Given the description of an element on the screen output the (x, y) to click on. 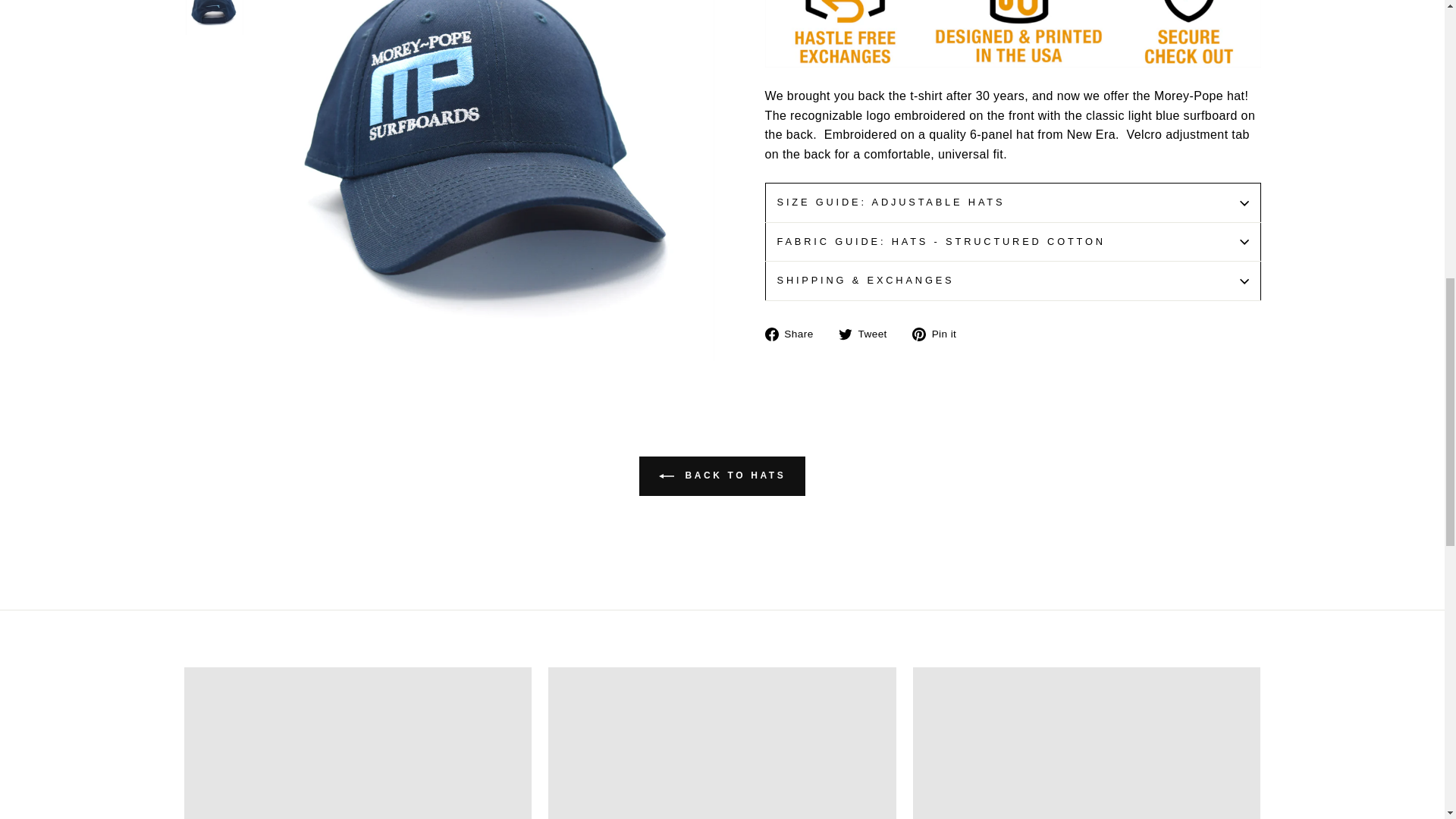
ICON-LEFT-ARROW (666, 476)
twitter (844, 334)
Tweet on Twitter (868, 333)
Share on Facebook (794, 333)
Pin on Pinterest (940, 333)
